Given the description of an element on the screen output the (x, y) to click on. 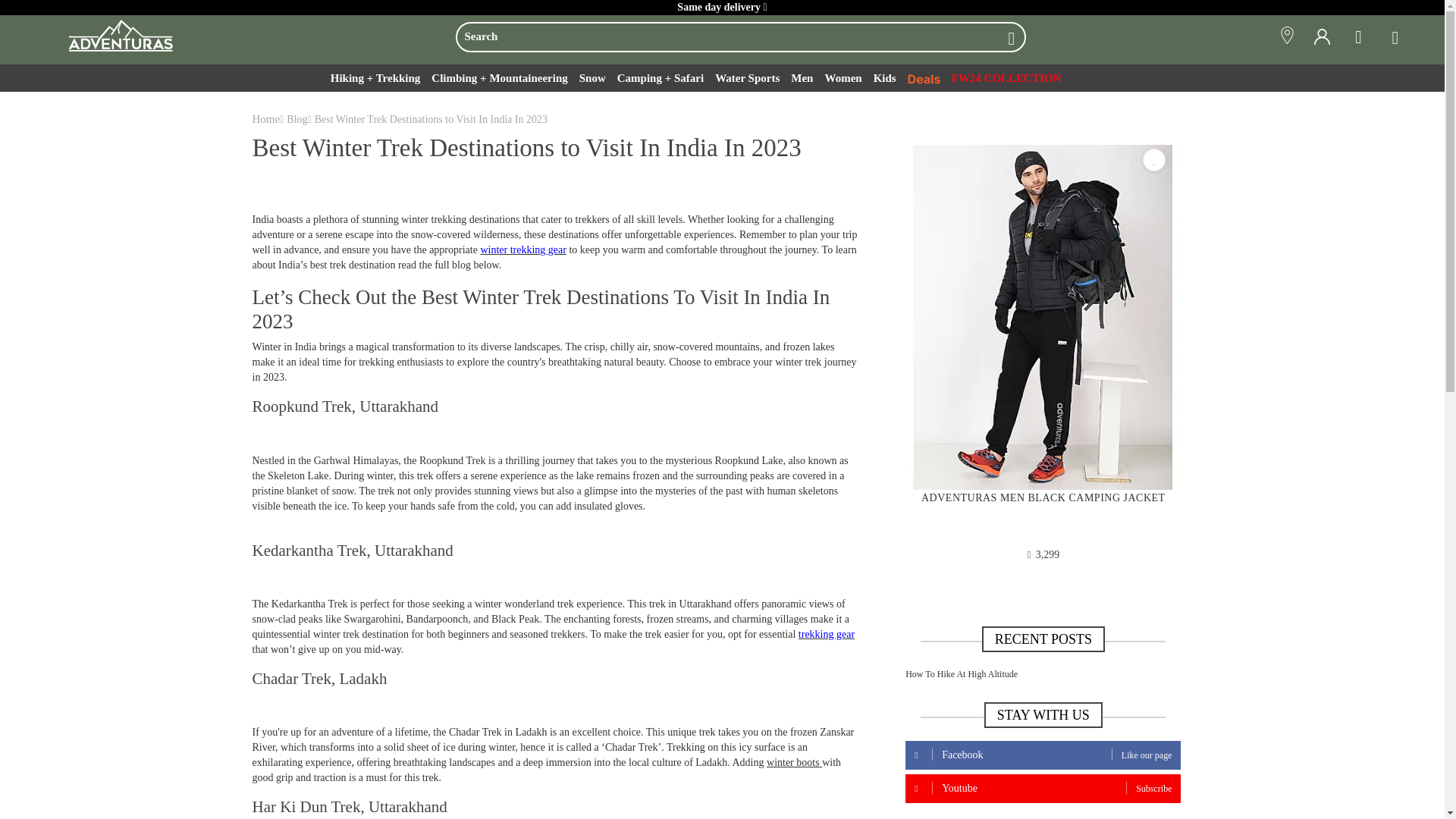
Adventuras (113, 35)
Cart (1390, 37)
My Wish List (1358, 37)
My Account (1321, 37)
